Given the description of an element on the screen output the (x, y) to click on. 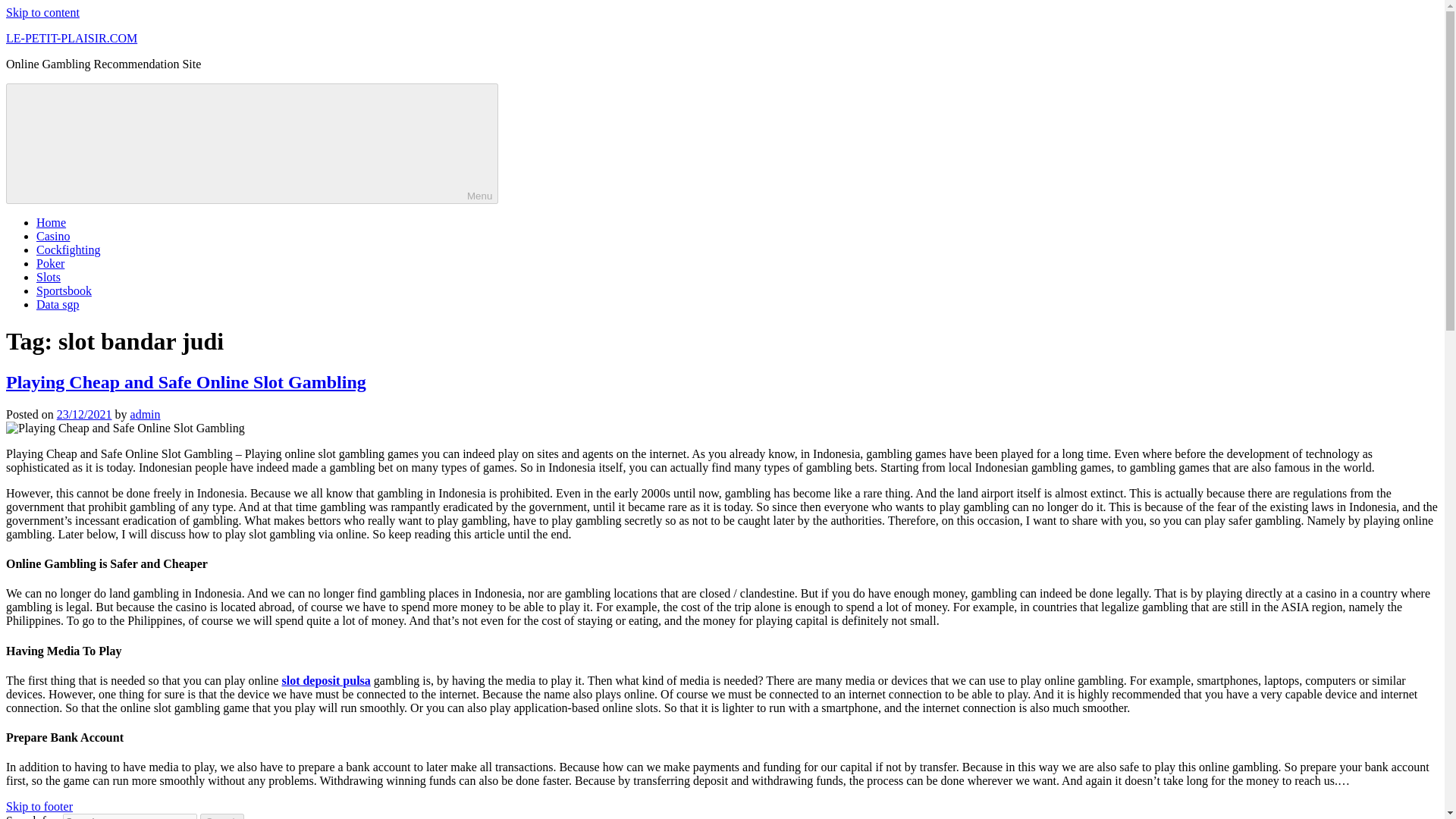
Skip to footer (38, 806)
Home (50, 222)
Casino (52, 236)
Skip to content (42, 11)
Menu (251, 143)
Poker (50, 263)
Search (222, 816)
Search (222, 816)
Cockfighting (68, 249)
Search (222, 816)
Data sgp (57, 304)
Playing Cheap and Safe Online Slot Gambling (185, 382)
Sportsbook (63, 290)
admin (145, 413)
slot deposit pulsa (325, 680)
